Given the description of an element on the screen output the (x, y) to click on. 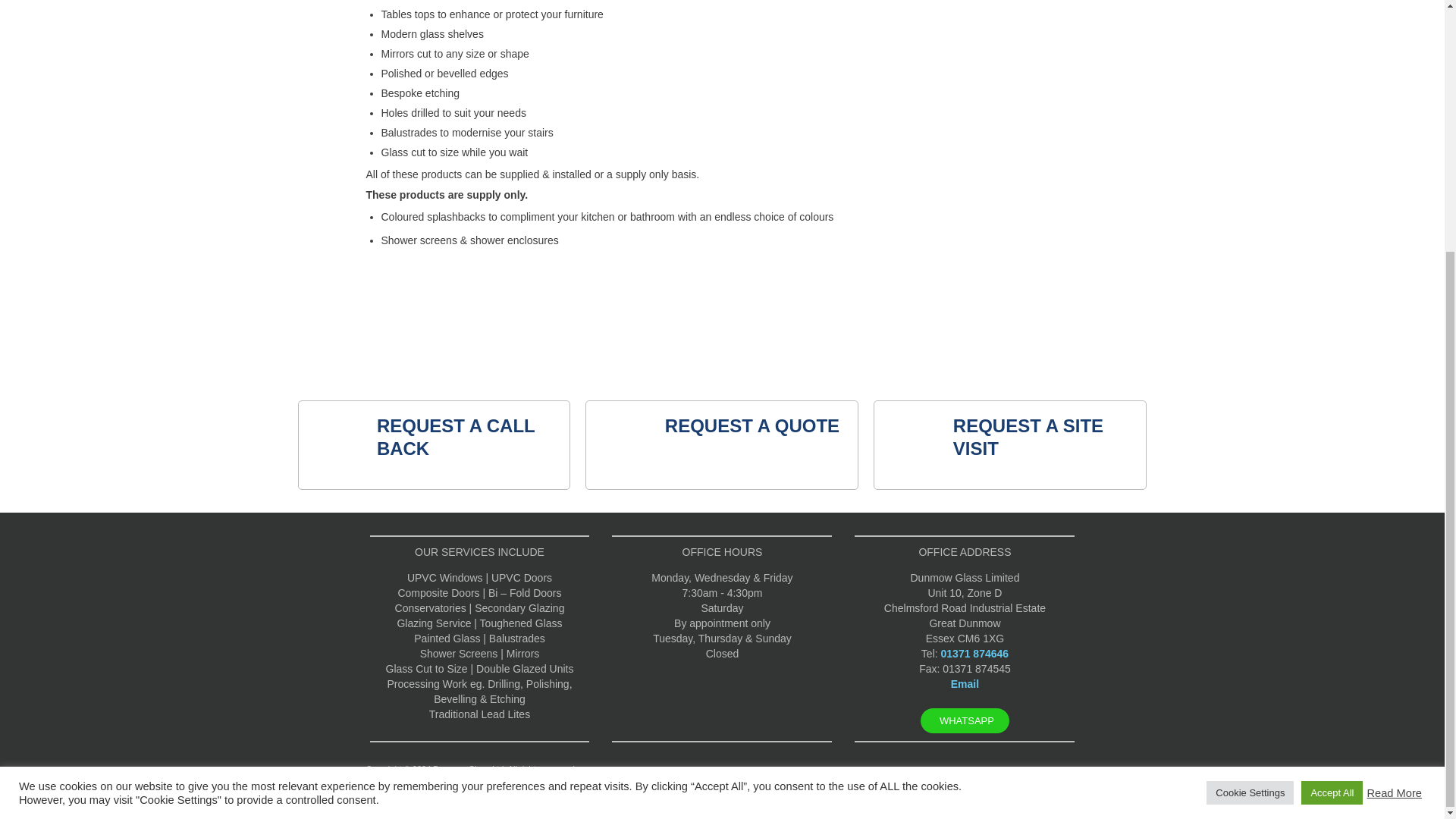
Website Terms and Conditions (705, 768)
activ Digital Marketing - North Essex (1006, 768)
REQUEST A CALL BACK (455, 436)
Click to call (974, 653)
01371 874646 (974, 653)
Email (964, 684)
Site Map (626, 768)
WHATSAPP (964, 720)
REQUEST A SITE VISIT (1028, 436)
REQUEST A QUOTE (752, 425)
